Given the description of an element on the screen output the (x, y) to click on. 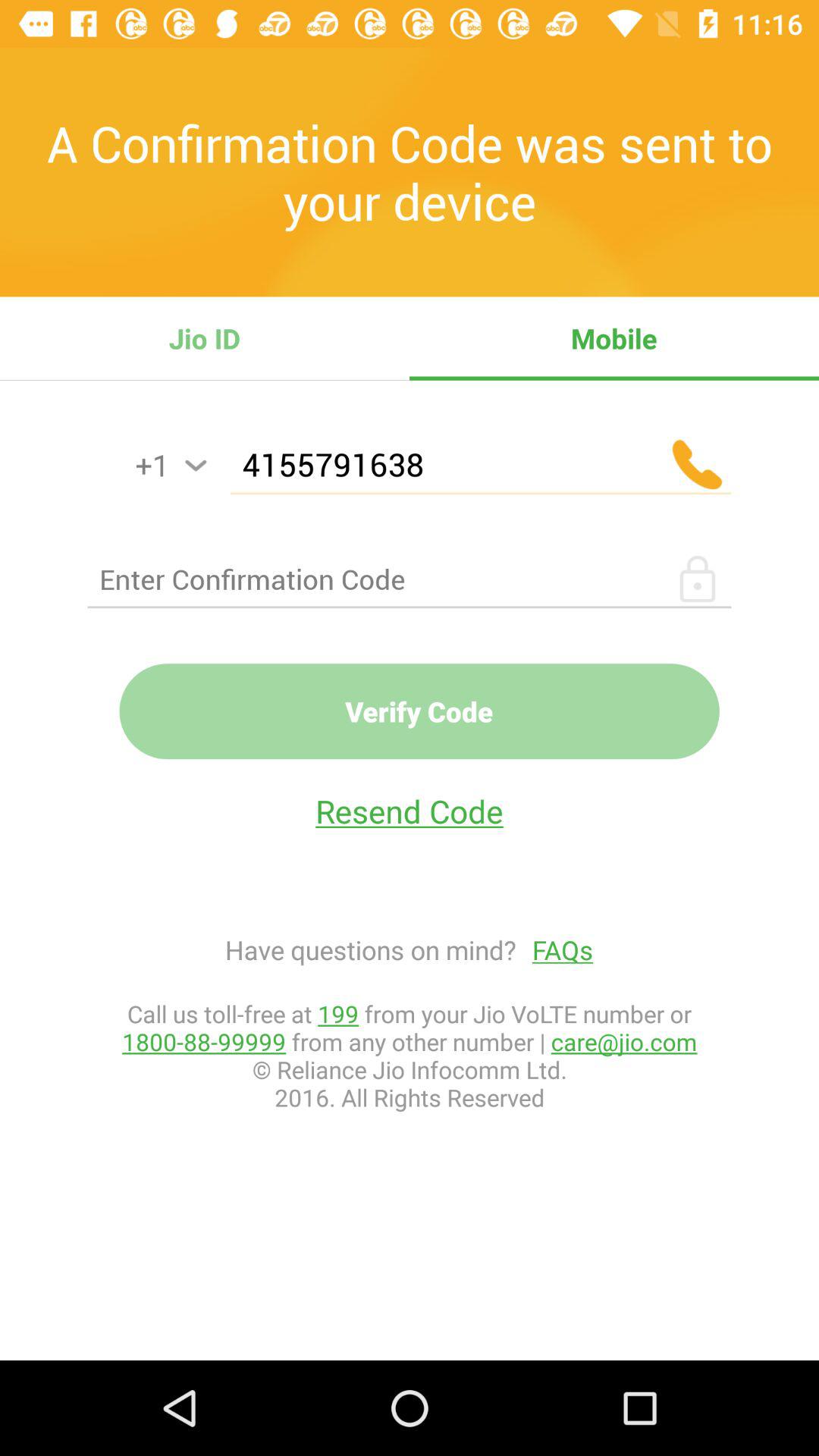
swipe to the verify code item (419, 711)
